Given the description of an element on the screen output the (x, y) to click on. 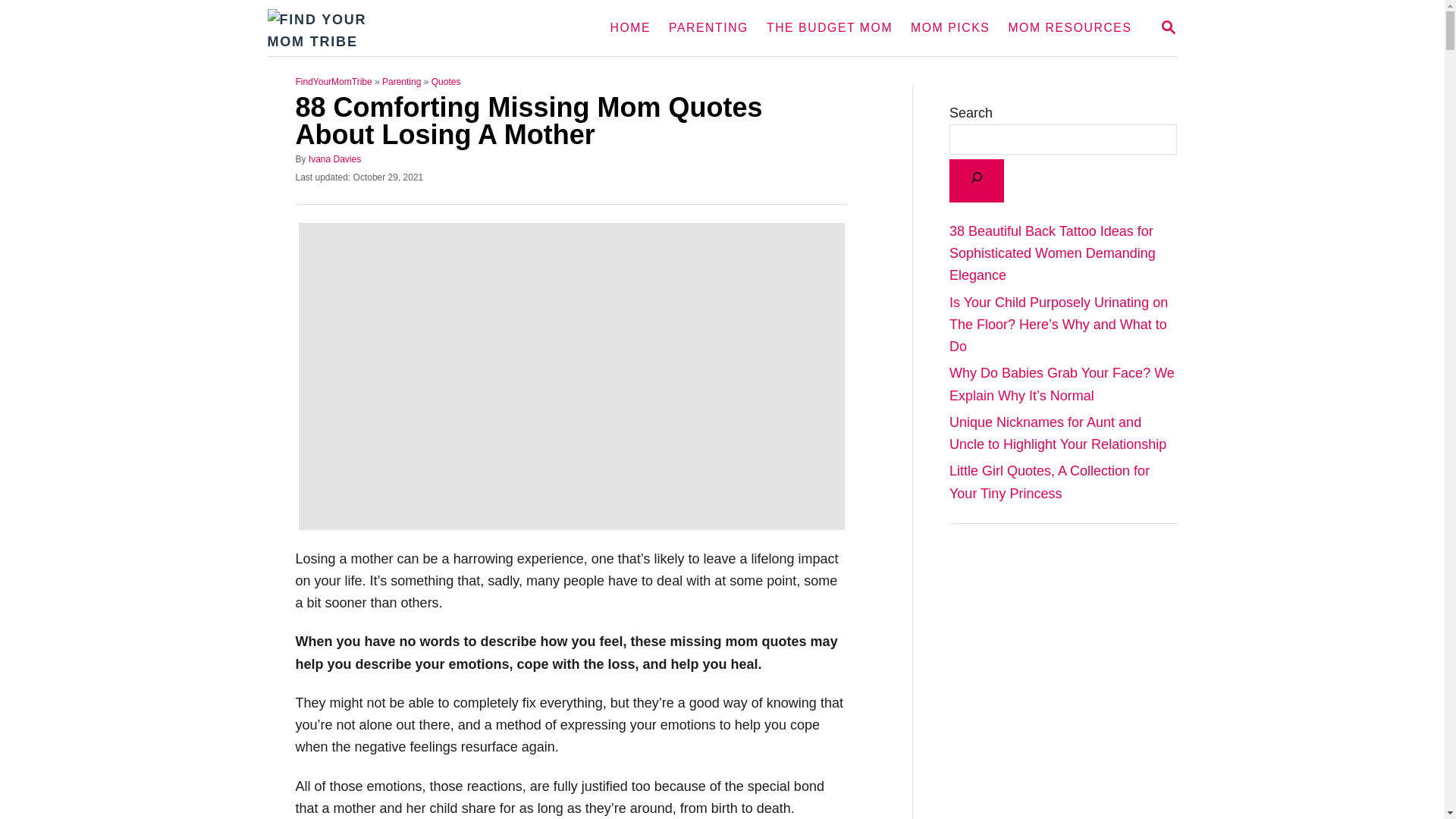
FindYourMomTribe (333, 81)
Find your mom tribe (406, 28)
HOME (629, 28)
Parenting (400, 81)
Quotes (445, 81)
MAGNIFYING GLASS (1167, 27)
Ivana Davies (1168, 28)
MOM PICKS (334, 158)
PARENTING (949, 28)
MOM RESOURCES (708, 28)
THE BUDGET MOM (1069, 28)
